Given the description of an element on the screen output the (x, y) to click on. 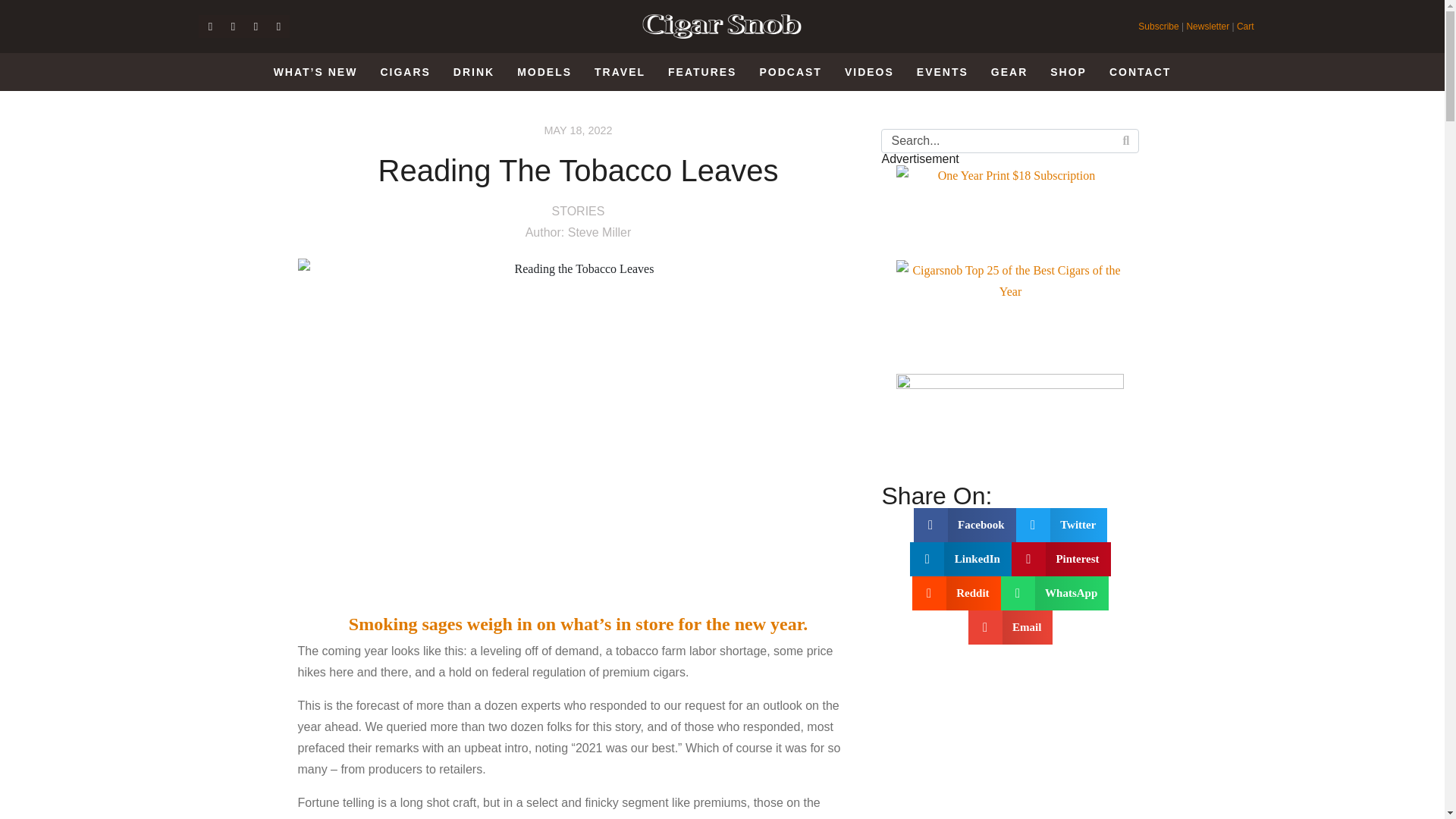
PODCAST (790, 71)
Newsletter (1207, 26)
CIGARS (404, 71)
FEATURES (701, 71)
VIDEOS (869, 71)
TRAVEL (620, 71)
GEAR (1008, 71)
Subscribe (1159, 26)
MODELS (544, 71)
DRINK (473, 71)
